Given the description of an element on the screen output the (x, y) to click on. 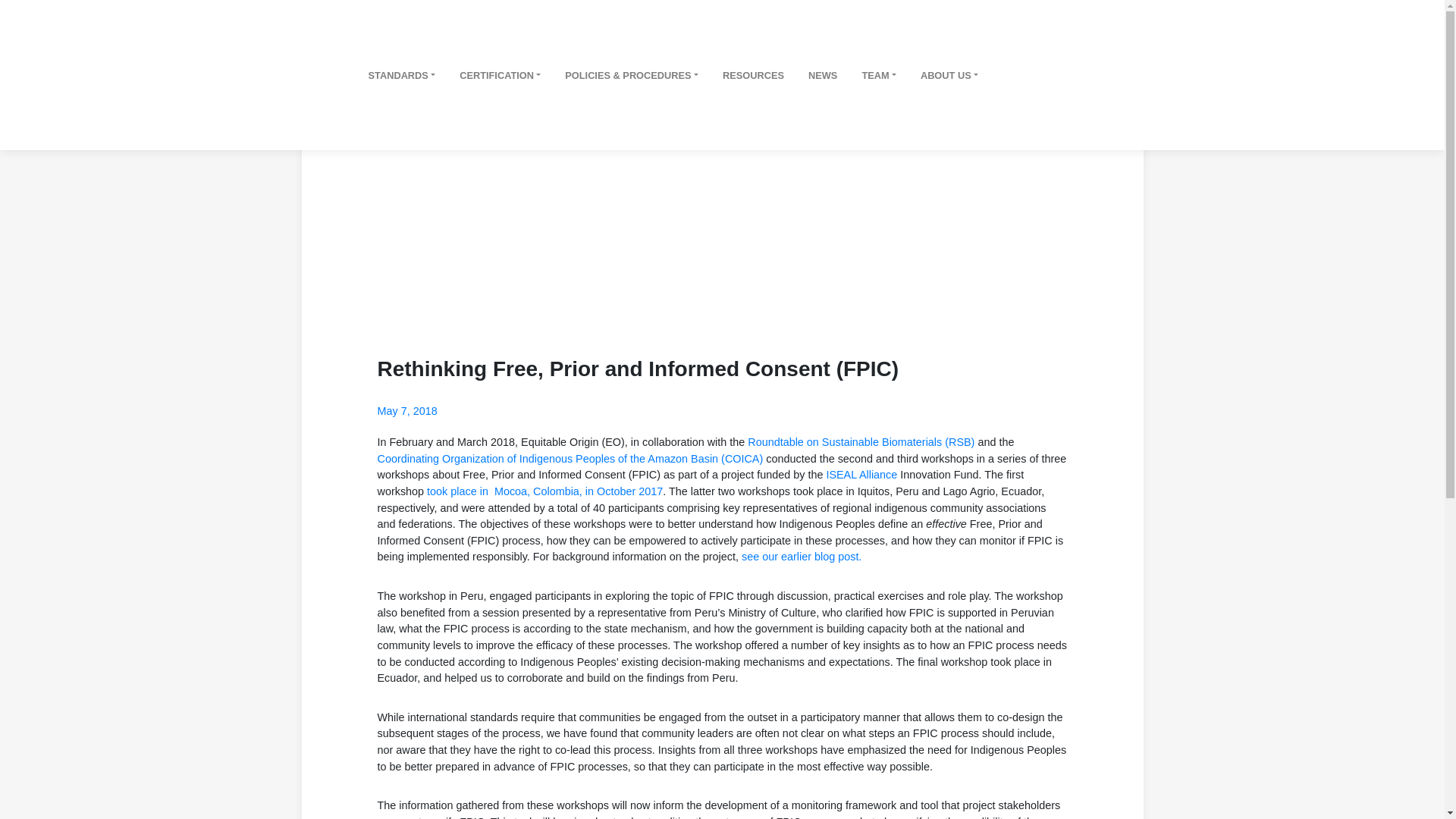
ISEAL Alliance (860, 474)
NEWS (822, 75)
TEAM (879, 75)
STANDARDS (402, 75)
ABOUT US (949, 75)
RESOURCES (753, 75)
CERTIFICATION (499, 75)
see our earlier blog post. (801, 556)
took place in  Mocoa, Colombia, in October 2017 (544, 491)
